Given the description of an element on the screen output the (x, y) to click on. 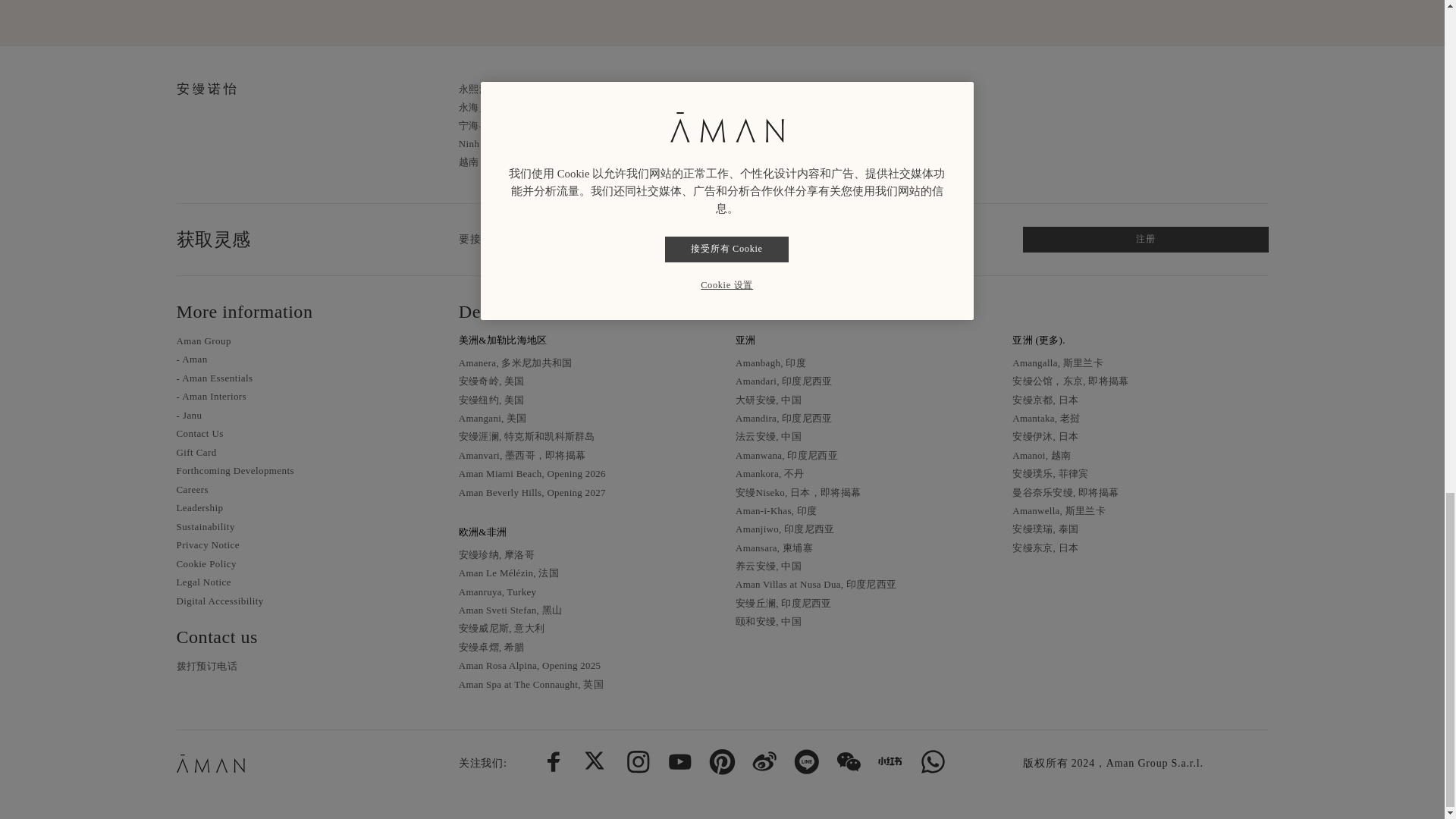
Contact Us (199, 432)
Gift Card (195, 451)
